Given the description of an element on the screen output the (x, y) to click on. 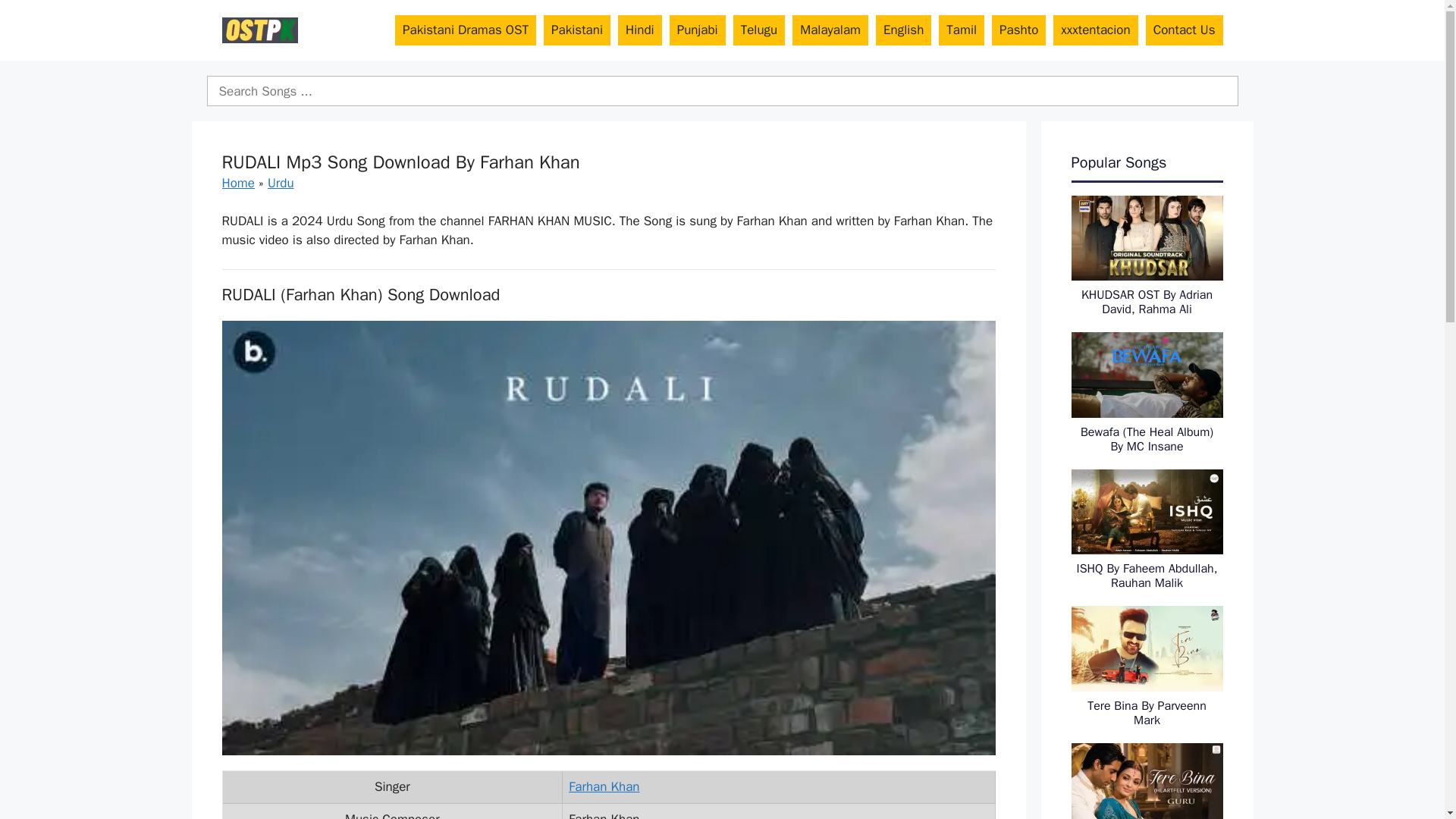
Home (237, 182)
Hindi (639, 30)
Tamil (961, 30)
Contact Us (1184, 30)
Punjabi (697, 30)
English (903, 30)
xxxtentacion (1094, 30)
Pakistani (576, 30)
Telugu (759, 30)
Farhan Khan (604, 786)
Pakistani Dramas OST (464, 30)
KHUDSAR OST By Adrian David, Rahma Ali (1146, 301)
Search (721, 91)
Urdu (280, 182)
